Given the description of an element on the screen output the (x, y) to click on. 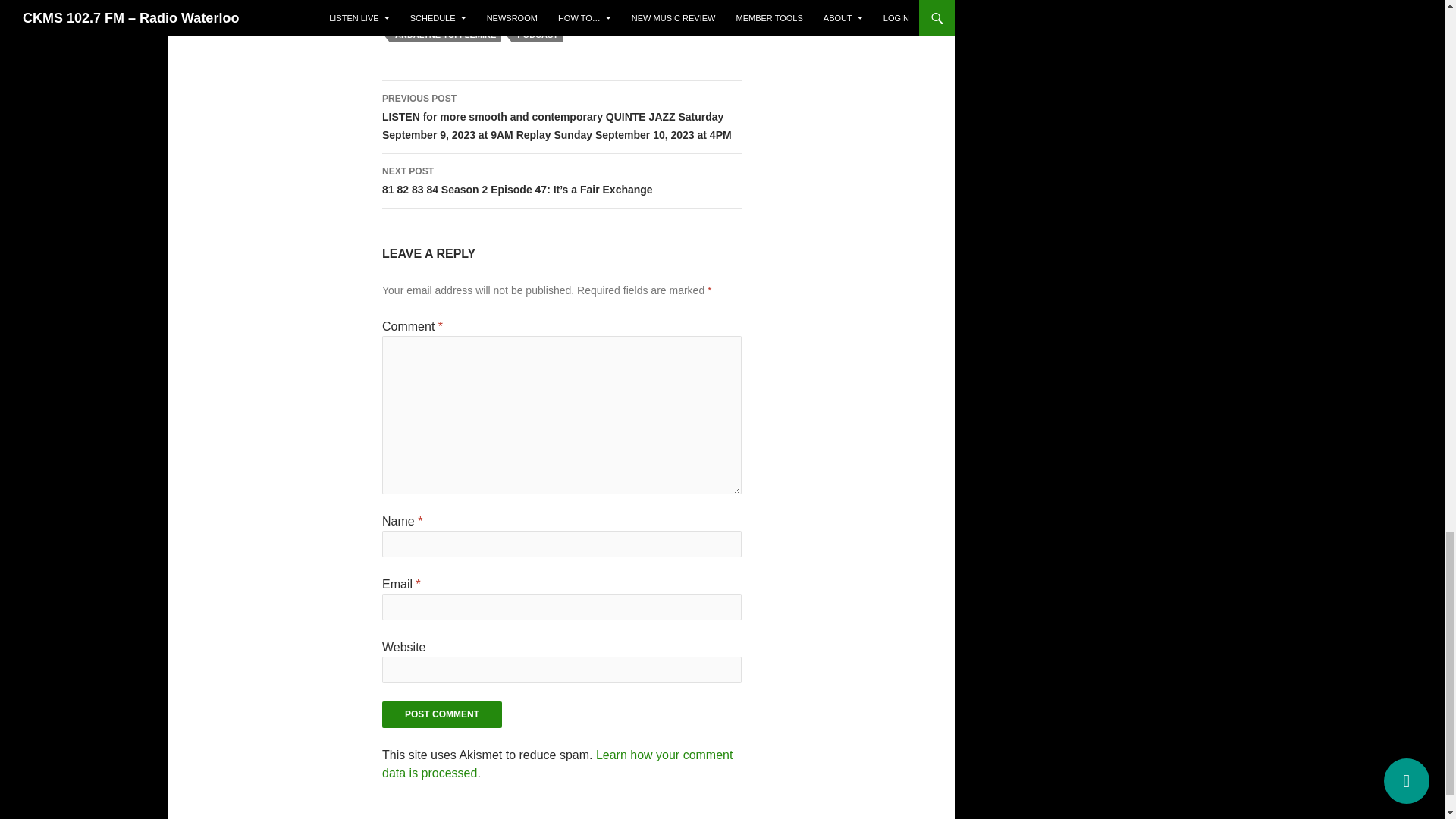
Post Comment (441, 714)
